Given the description of an element on the screen output the (x, y) to click on. 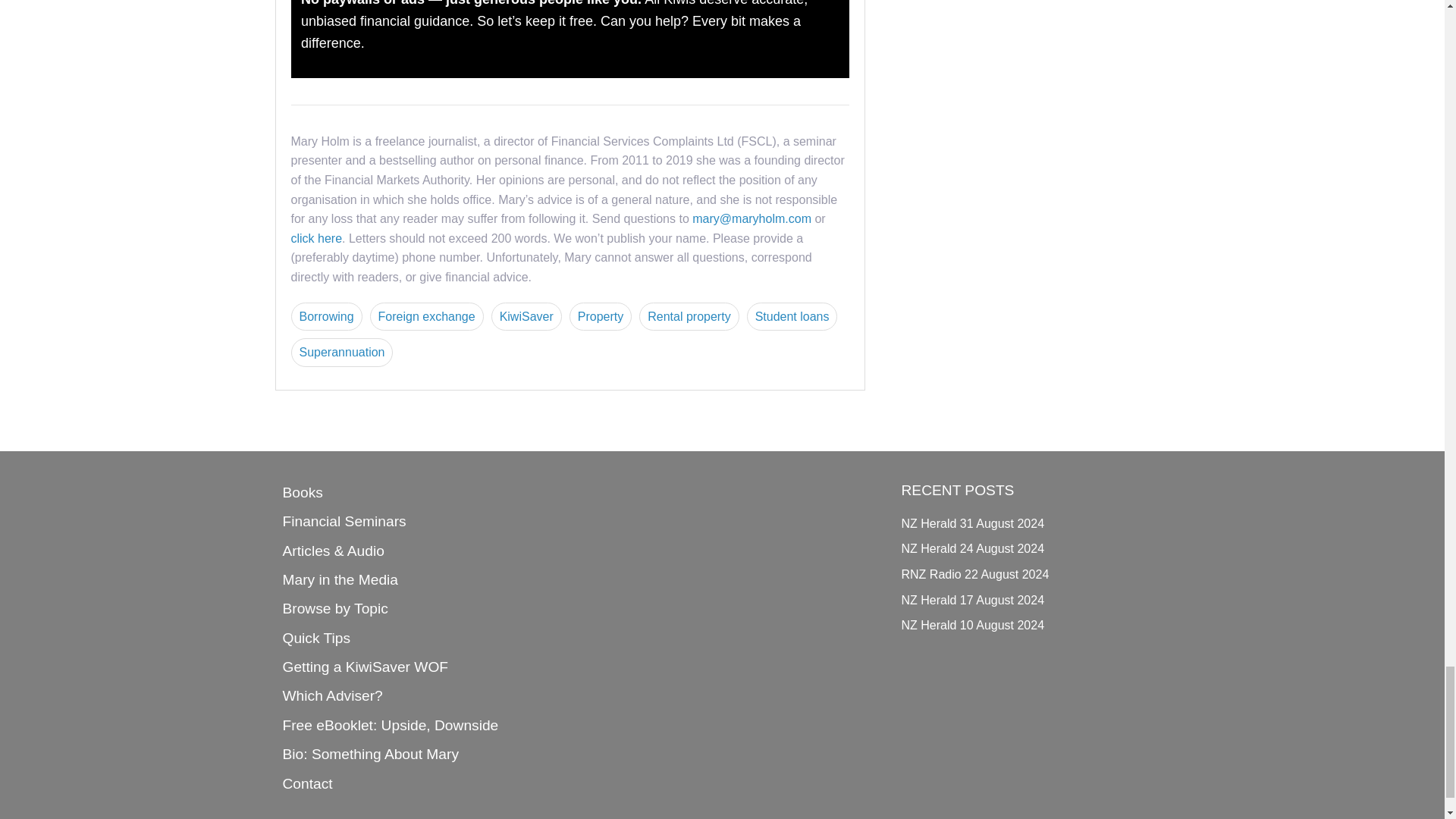
Rental property (688, 316)
Student loans (792, 316)
click here (316, 237)
Foreign exchange (426, 316)
Superannuation (342, 352)
KiwiSaver (527, 316)
Borrowing (326, 316)
Property (600, 316)
